Given the description of an element on the screen output the (x, y) to click on. 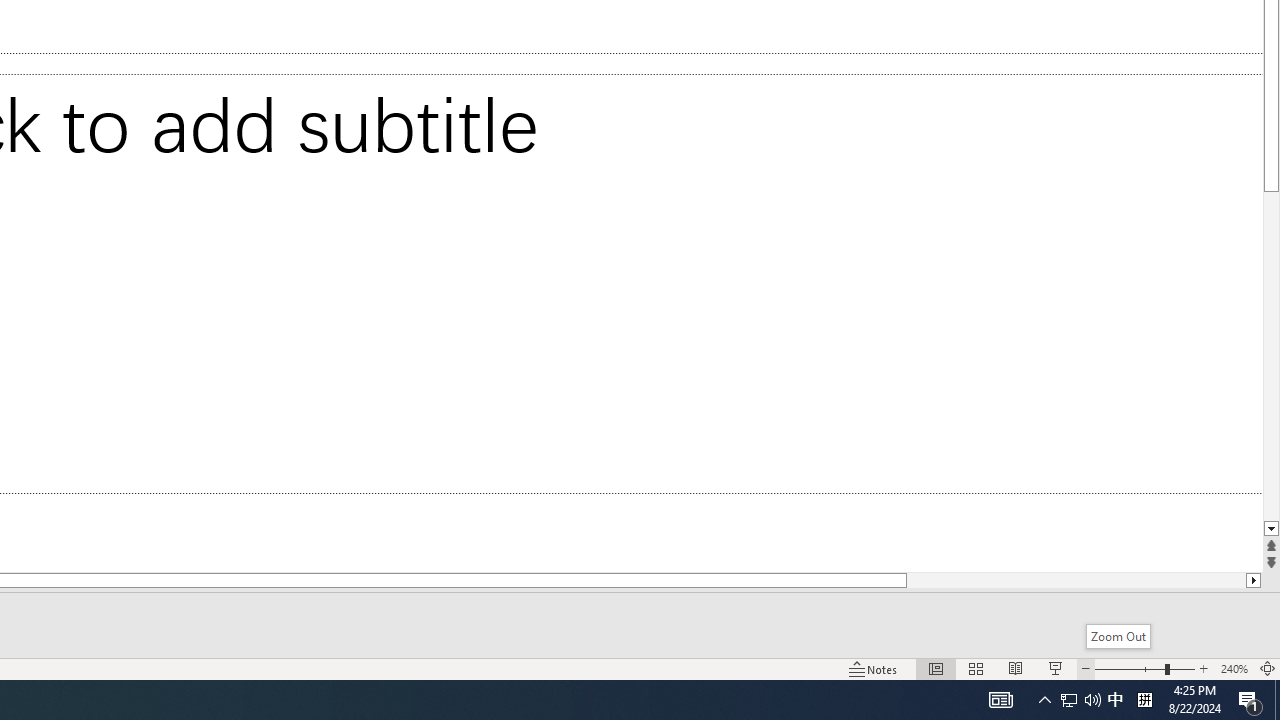
Zoom 240% (1234, 668)
